Given the description of an element on the screen output the (x, y) to click on. 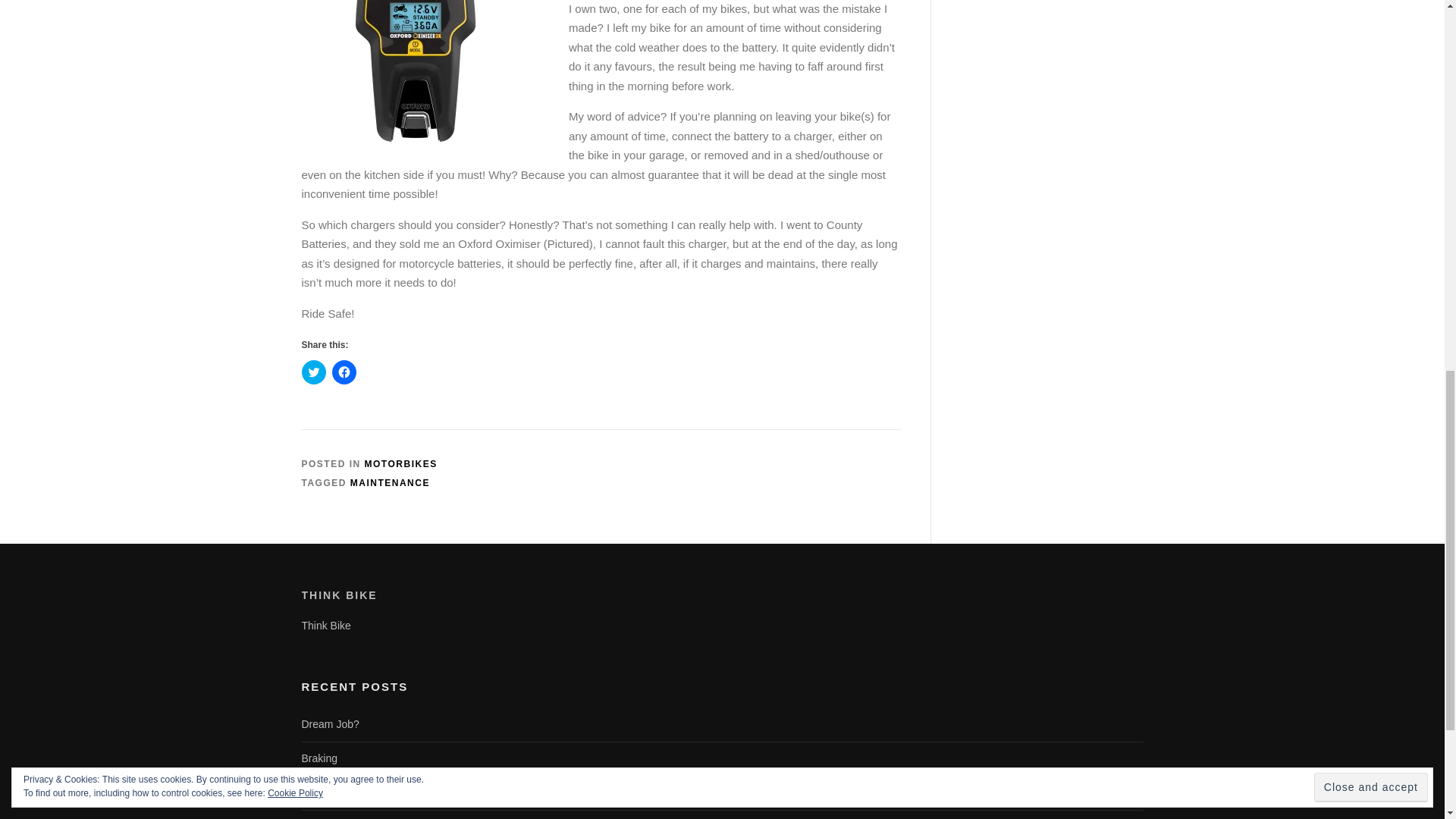
MOTORBIKES (401, 463)
Click to share on Facebook (343, 372)
Click to share on Twitter (313, 372)
MAINTENANCE (389, 482)
